Given the description of an element on the screen output the (x, y) to click on. 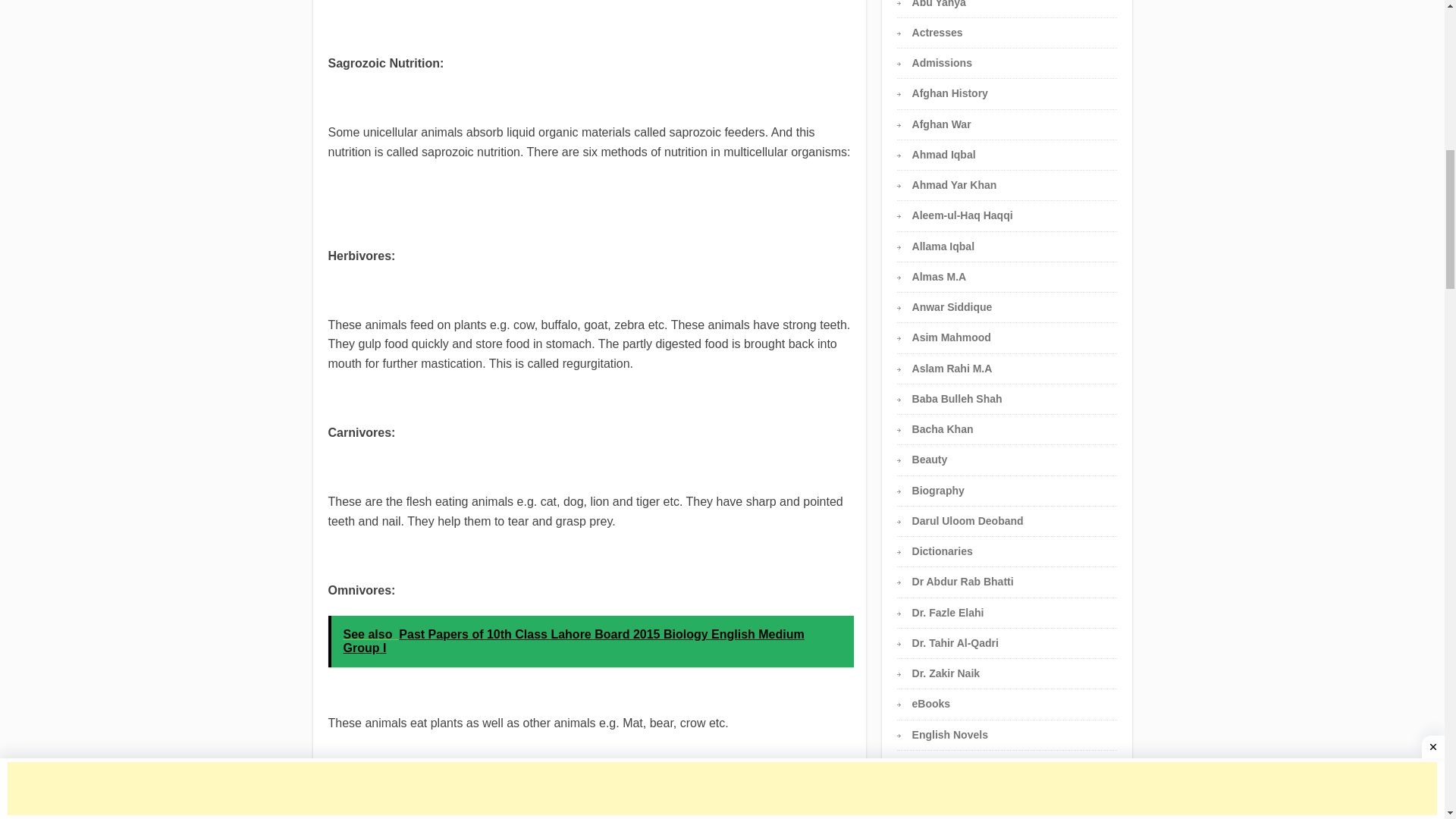
Ahmad Yar Khan (954, 184)
Ahmad Iqbal (943, 154)
Allama Iqbal (943, 246)
Almas M.A (939, 276)
Abu Yahya (939, 4)
Admissions (942, 62)
Aleem-ul-Haq Haqqi (962, 215)
Afghan History (950, 92)
Actresses (937, 32)
Afghan War (941, 123)
